Given the description of an element on the screen output the (x, y) to click on. 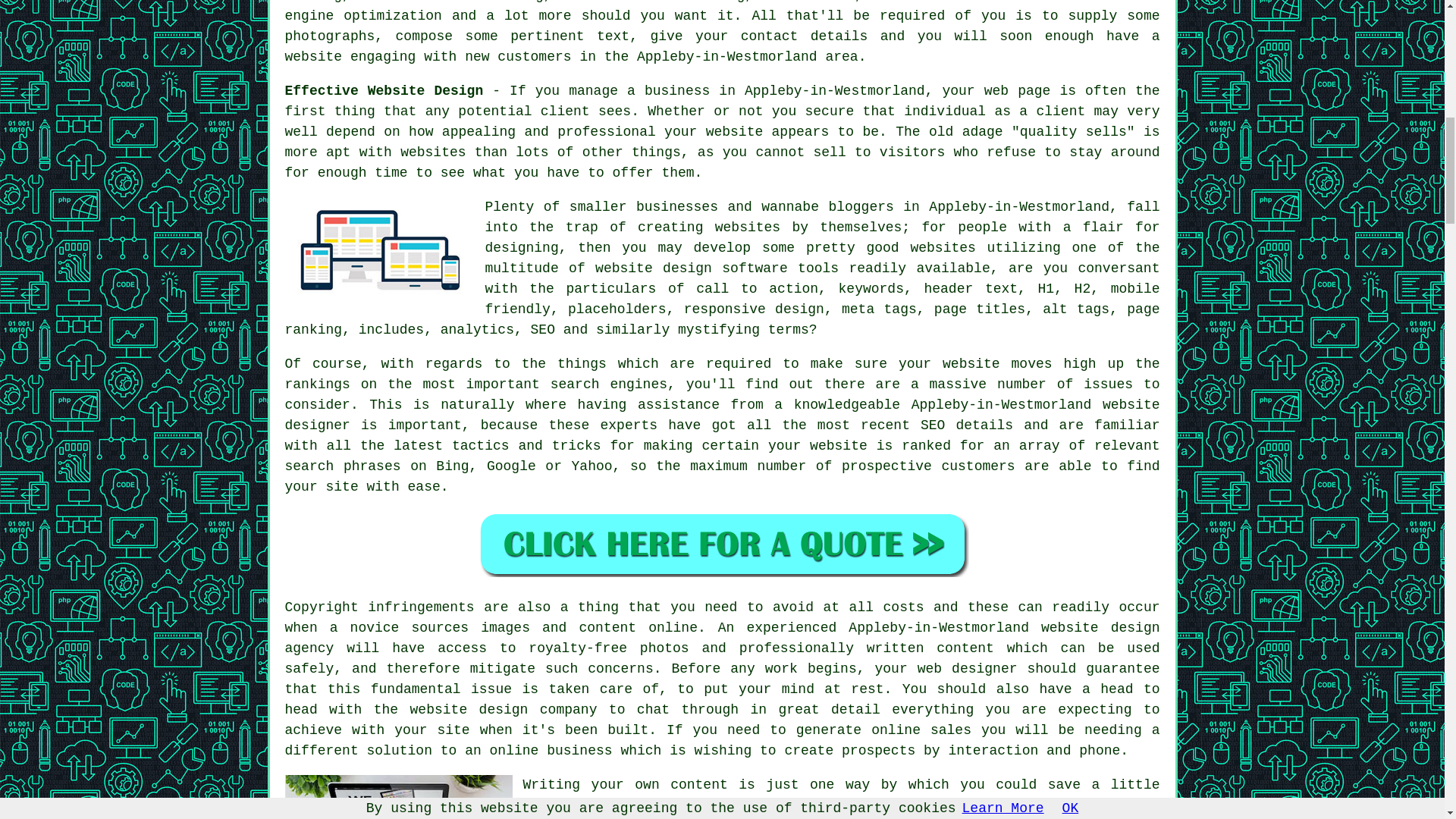
business in Appleby-in-Westmorland (784, 90)
page ranking (722, 319)
call to action (756, 288)
responsive design (754, 309)
websites (747, 227)
keywords (871, 288)
have a website (722, 46)
mobile friendly (822, 298)
